Given the description of an element on the screen output the (x, y) to click on. 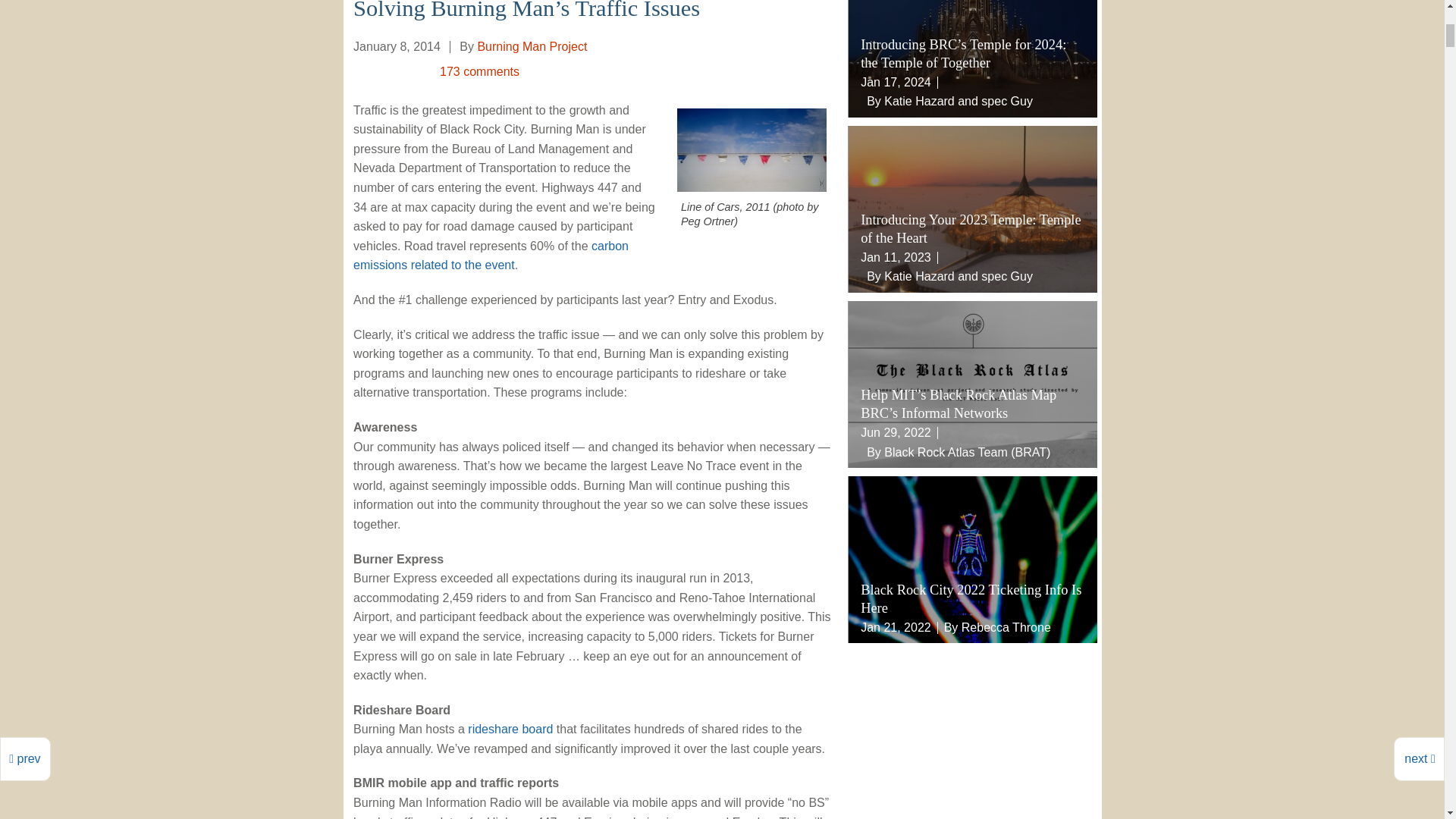
 Introducing Your 2023 Temple: Temple of the Heart  (972, 209)
Posts by Burning Man Project (531, 46)
 Black Rock City 2022 Ticketing Info Is Here  (972, 558)
